Given the description of an element on the screen output the (x, y) to click on. 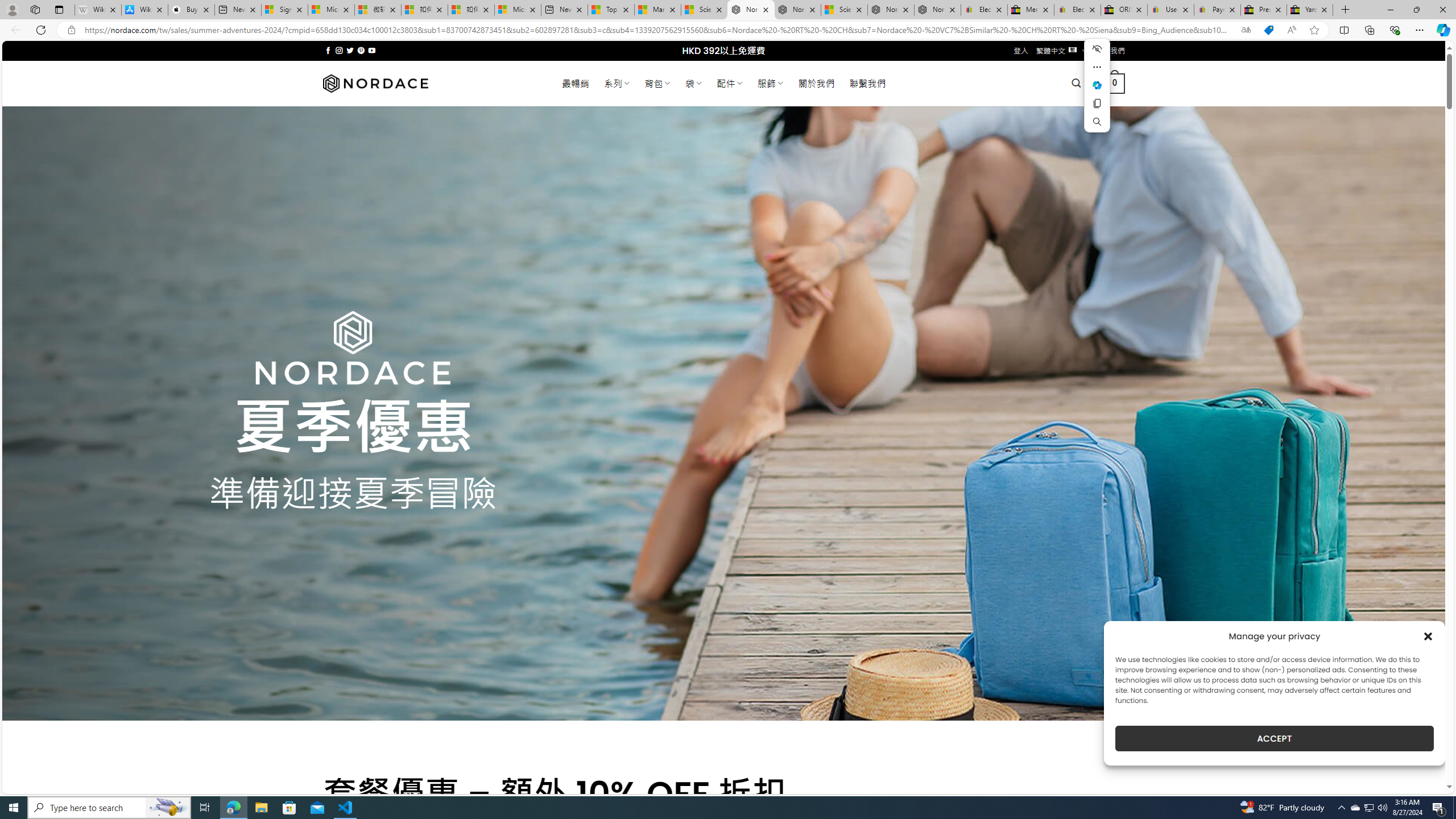
More actions (1096, 67)
Payments Terms of Use | eBay.com (1216, 9)
Show translate options (1245, 29)
